Given the description of an element on the screen output the (x, y) to click on. 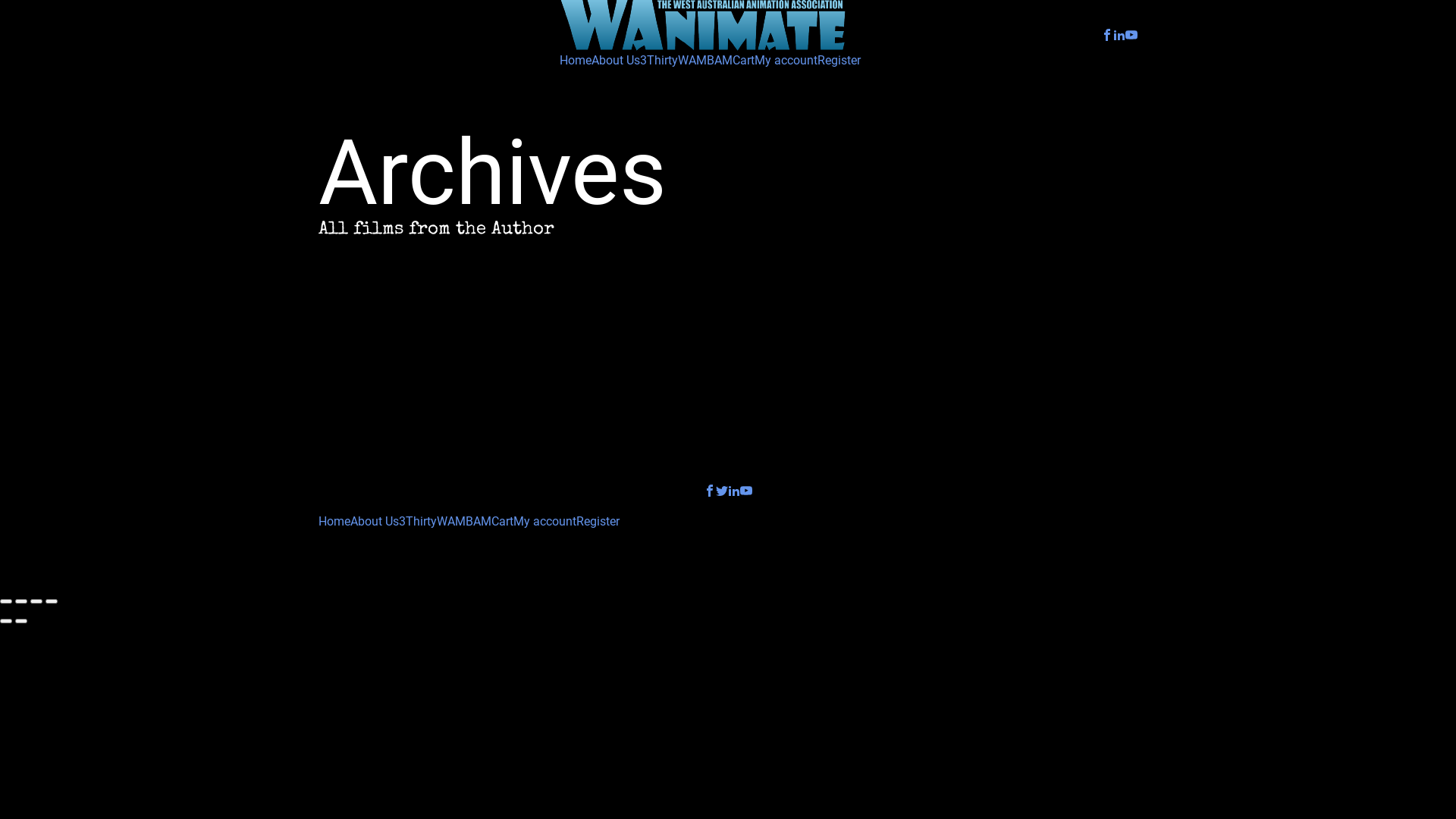
Register Element type: text (597, 521)
3Thirty Element type: text (417, 521)
3Thirty Element type: text (658, 60)
My account Element type: text (544, 521)
About Us Element type: text (615, 60)
Register Element type: text (838, 60)
My account Element type: text (784, 60)
Home Element type: text (575, 60)
Cart Element type: text (743, 60)
Home Element type: text (334, 521)
WAMBAM Element type: text (463, 521)
Cart Element type: text (502, 521)
WAMBAM Element type: text (704, 60)
About Us Element type: text (374, 521)
